Given the description of an element on the screen output the (x, y) to click on. 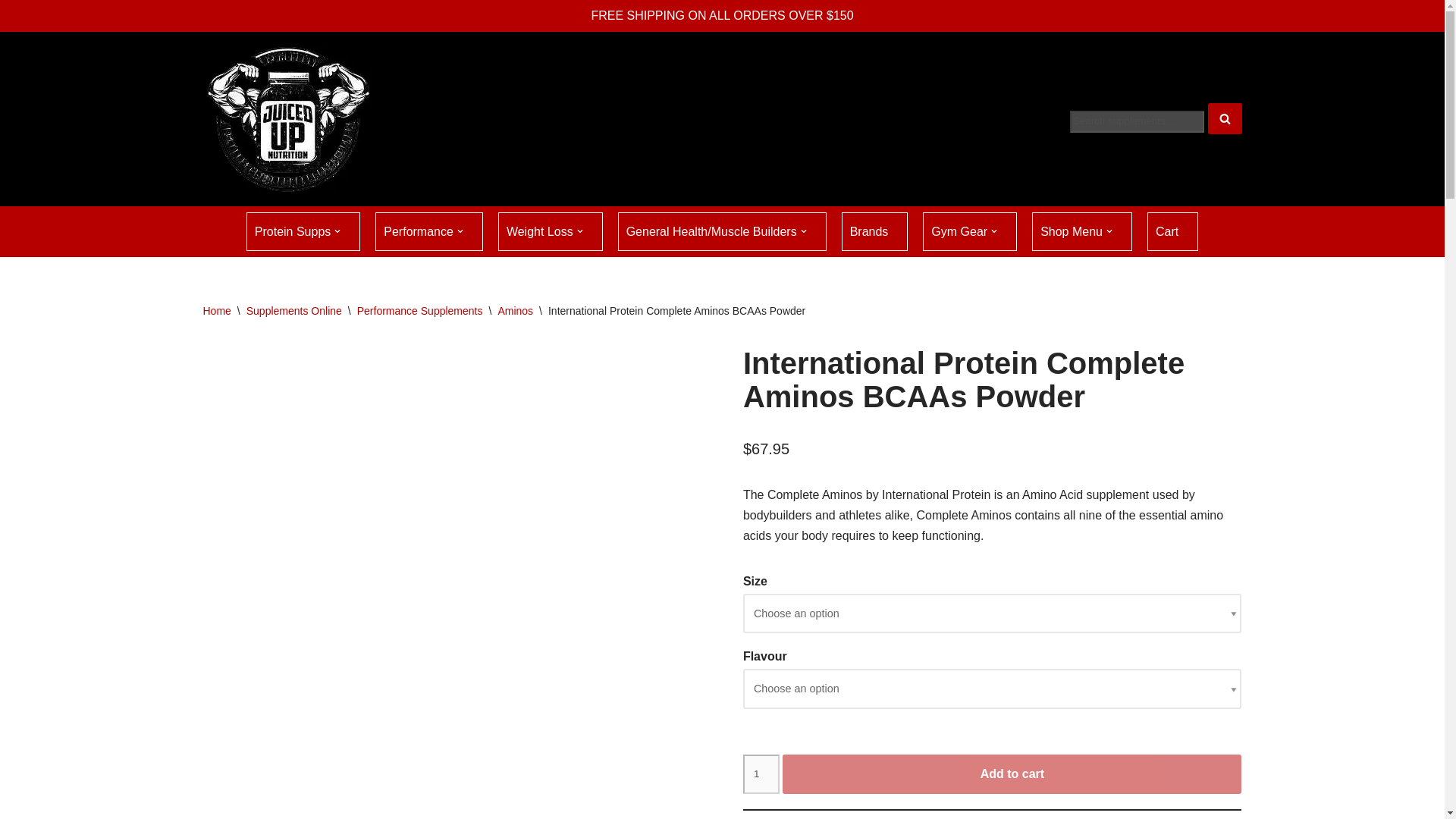
Gym Gear (969, 231)
Shop Menu (1082, 231)
Brands (874, 231)
Cart (1172, 231)
Skip to content (11, 31)
Weight Loss (549, 231)
Performance (429, 231)
Juiced Up Nutrition (289, 118)
1 (760, 773)
Protein Supps (303, 231)
